Given the description of an element on the screen output the (x, y) to click on. 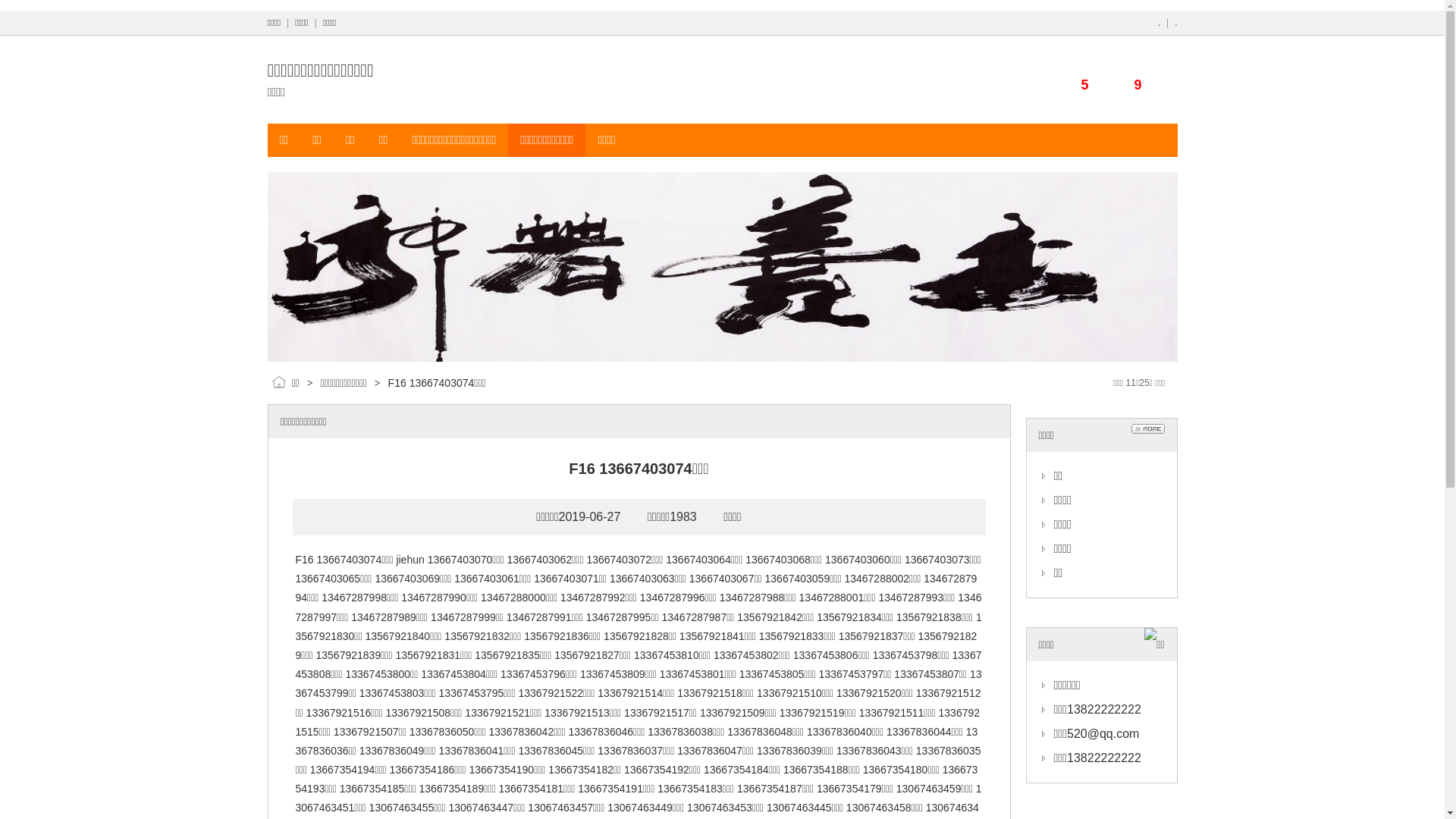
. Element type: text (1158, 22)
. Element type: text (1175, 22)
